Given the description of an element on the screen output the (x, y) to click on. 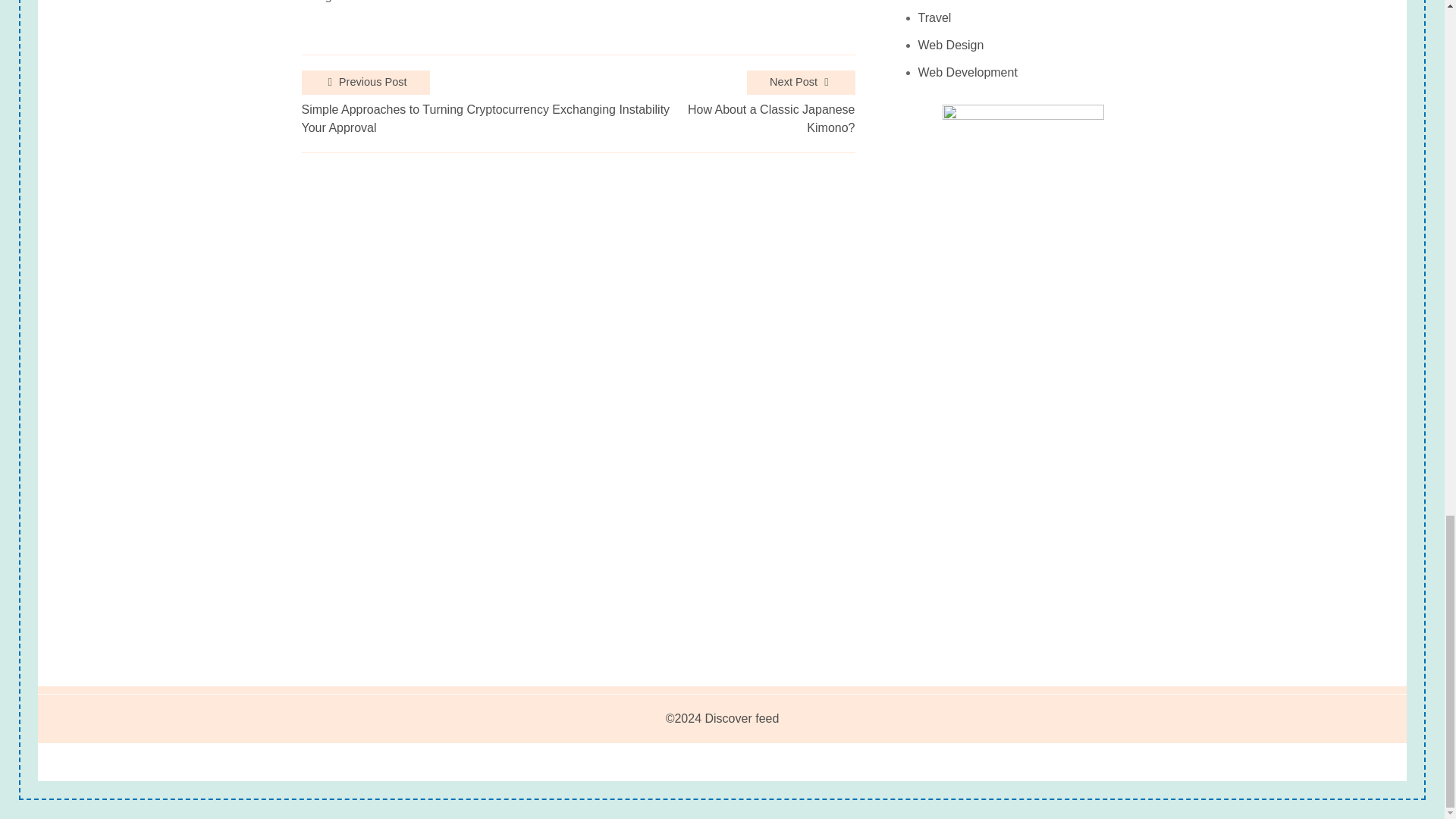
Next Post (800, 82)
How About a Classic Japanese Kimono? (764, 118)
Previous Post (365, 82)
